Given the description of an element on the screen output the (x, y) to click on. 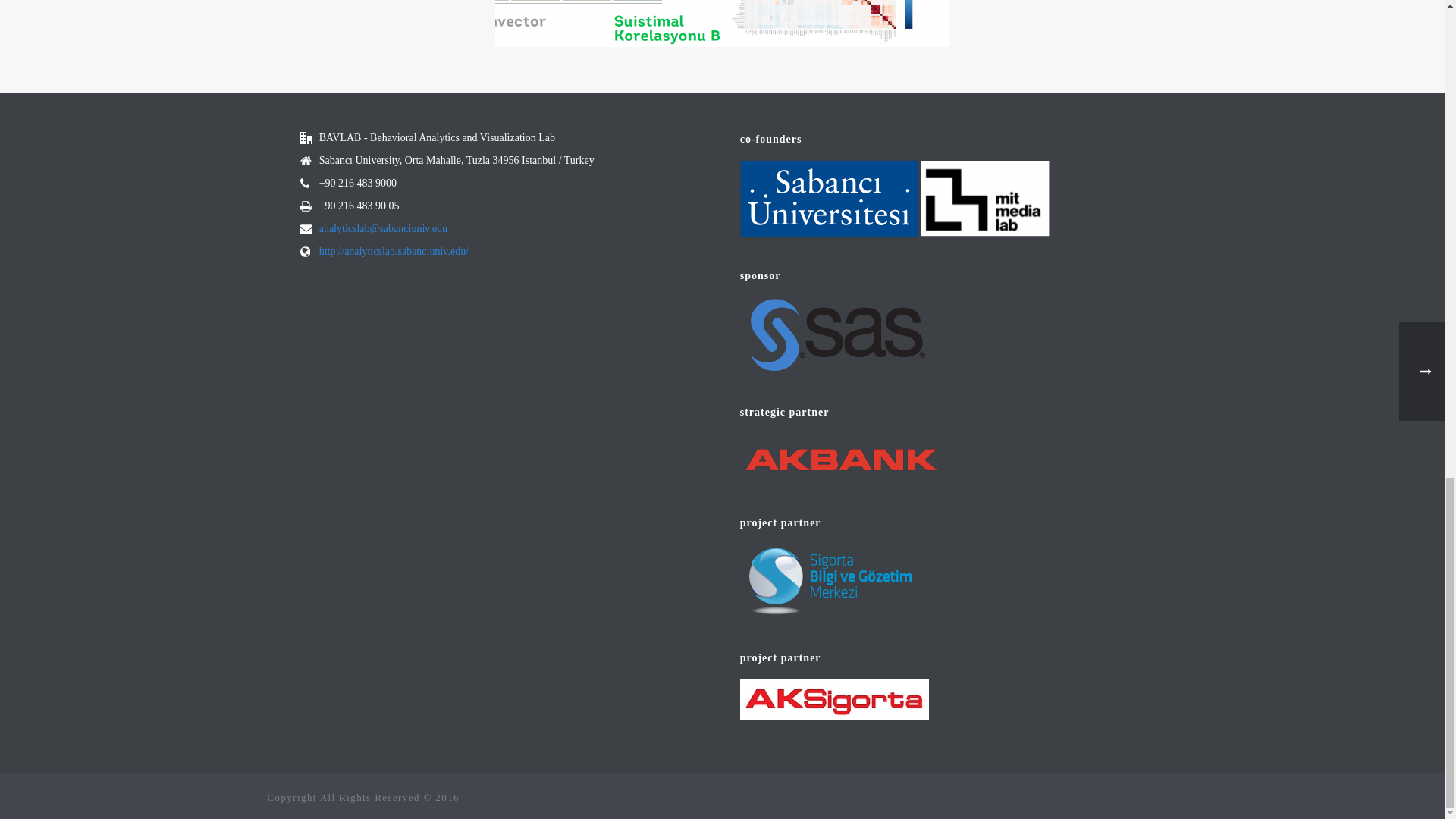
SBM  Insurance Fraud Project (608, 23)
Customer Churn Analysis (835, 23)
